Given the description of an element on the screen output the (x, y) to click on. 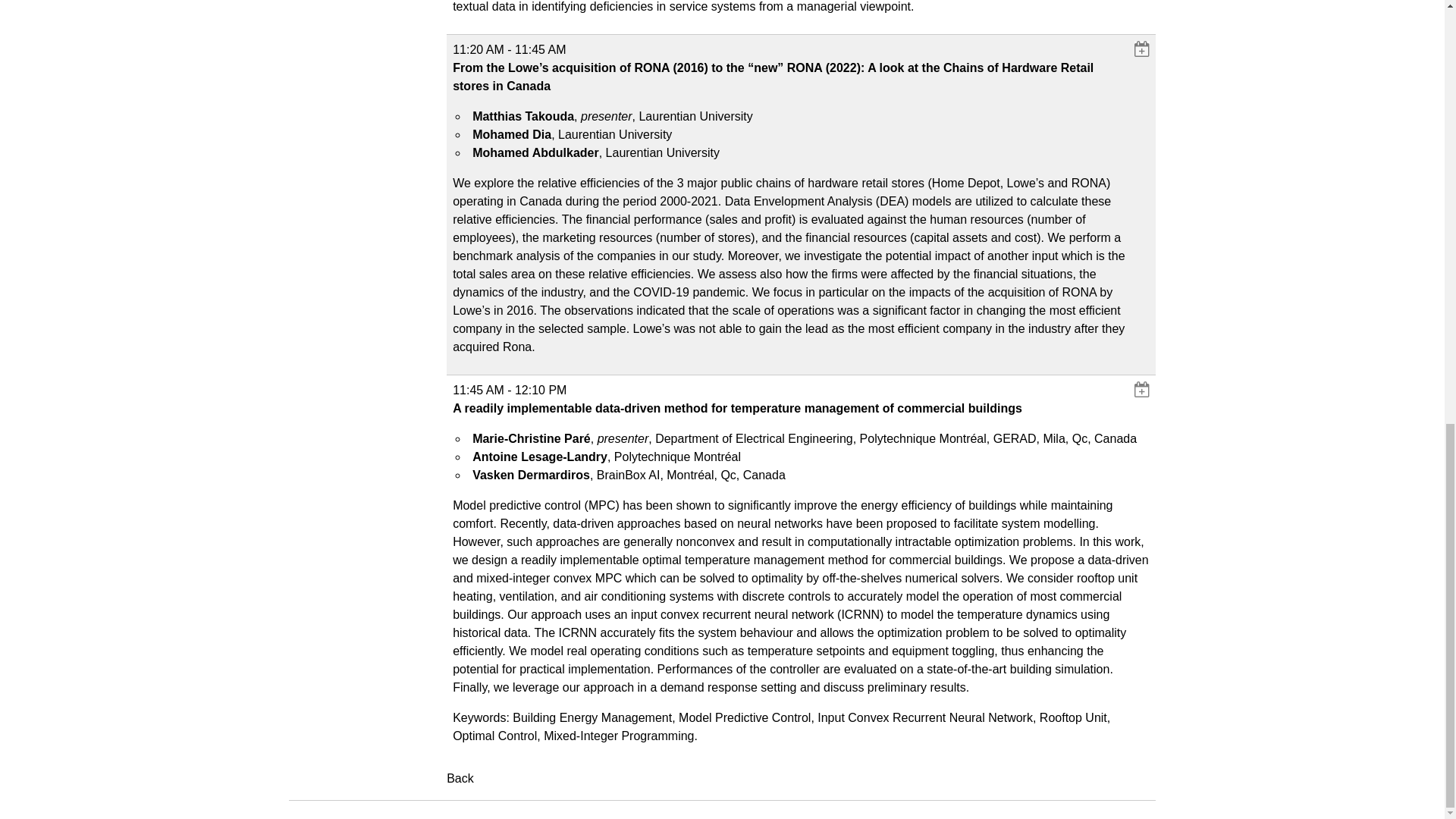
Back (460, 778)
